Given the description of an element on the screen output the (x, y) to click on. 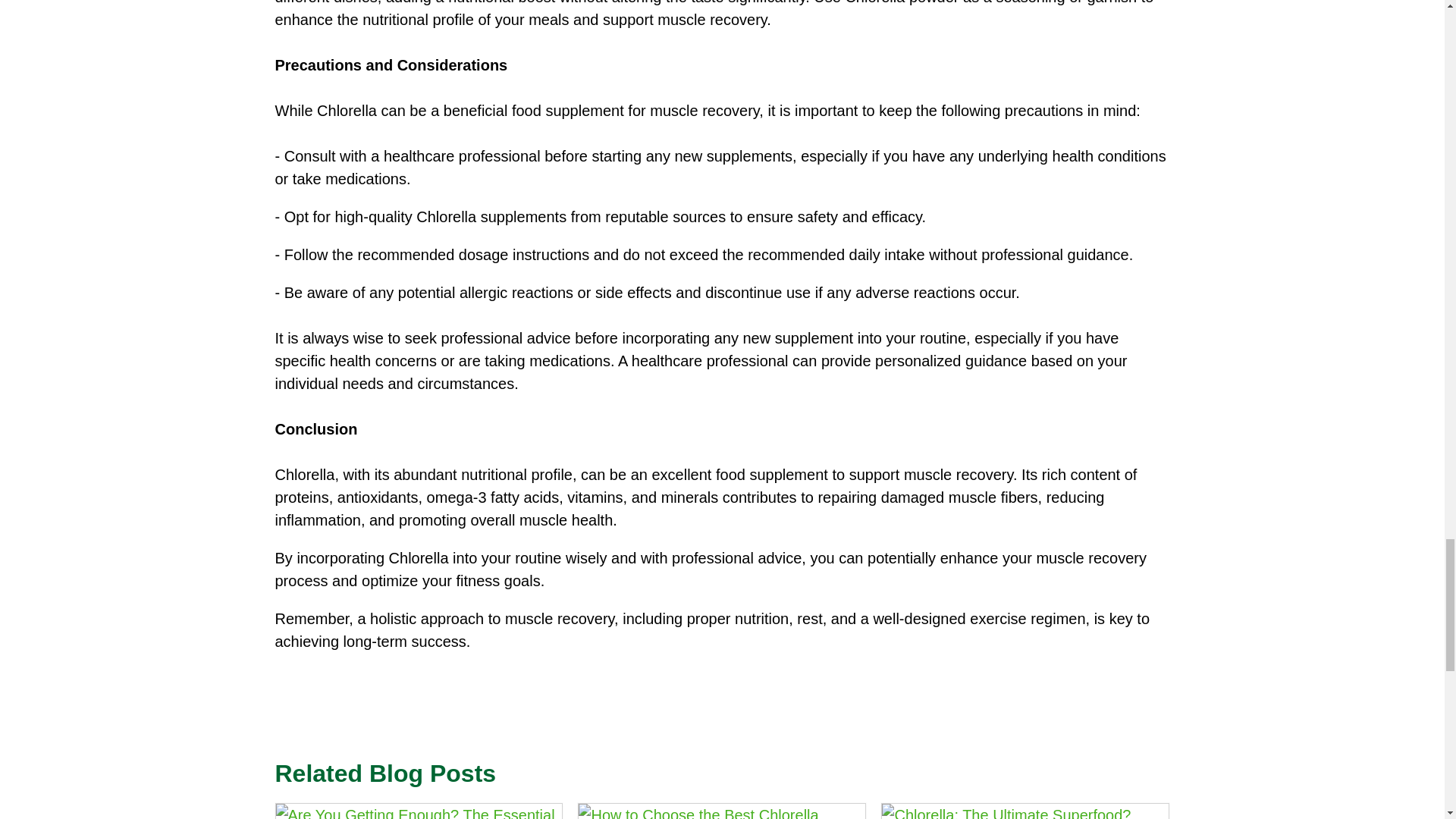
Are You Getting Enough? The Essential Nutrients in Chlorella (419, 811)
How to Choose the Best Chlorella Supplement (721, 811)
Chlorella: The Ultimate Superfood? (1025, 811)
